Given the description of an element on the screen output the (x, y) to click on. 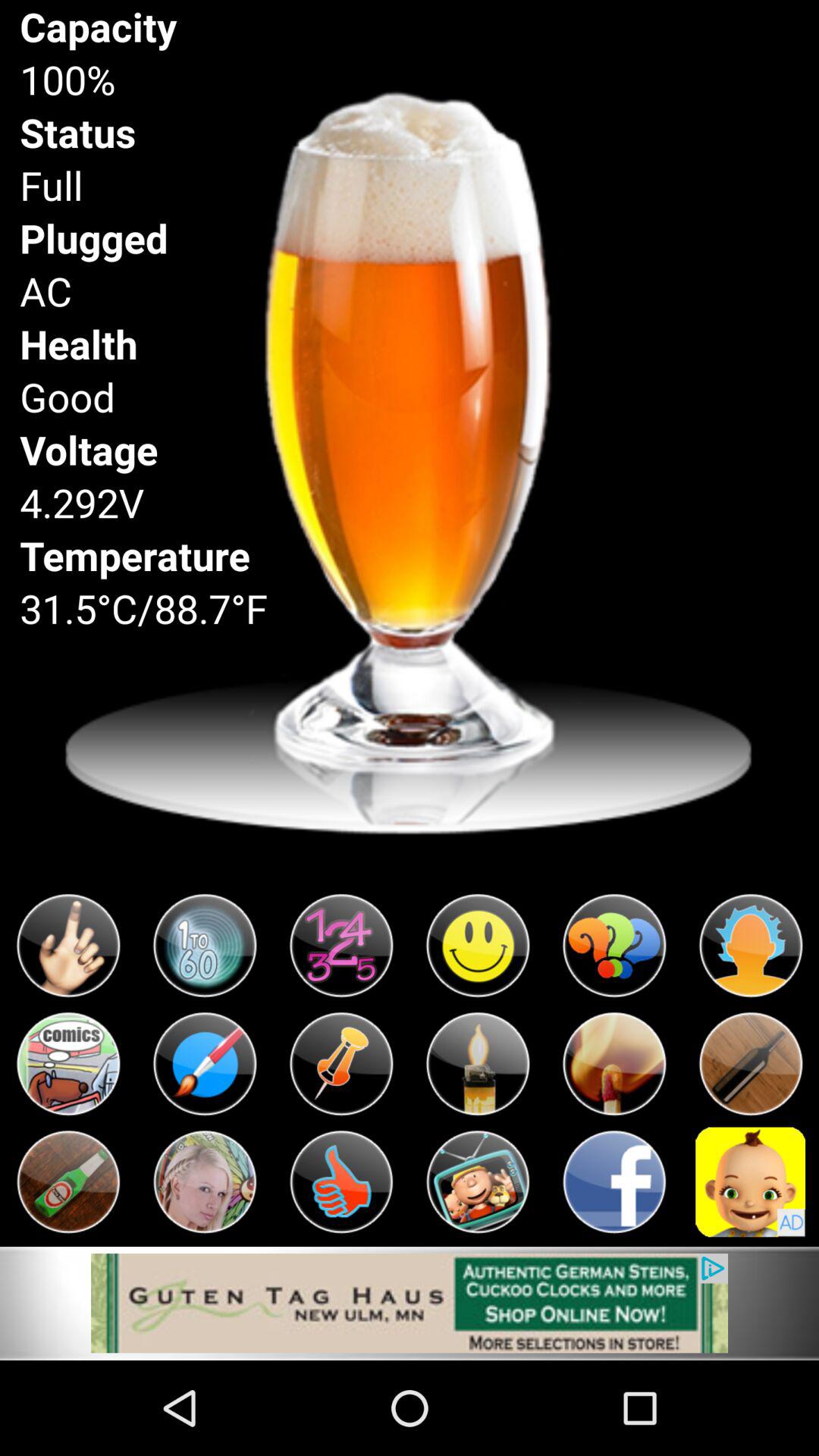
new open option (68, 1063)
